Given the description of an element on the screen output the (x, y) to click on. 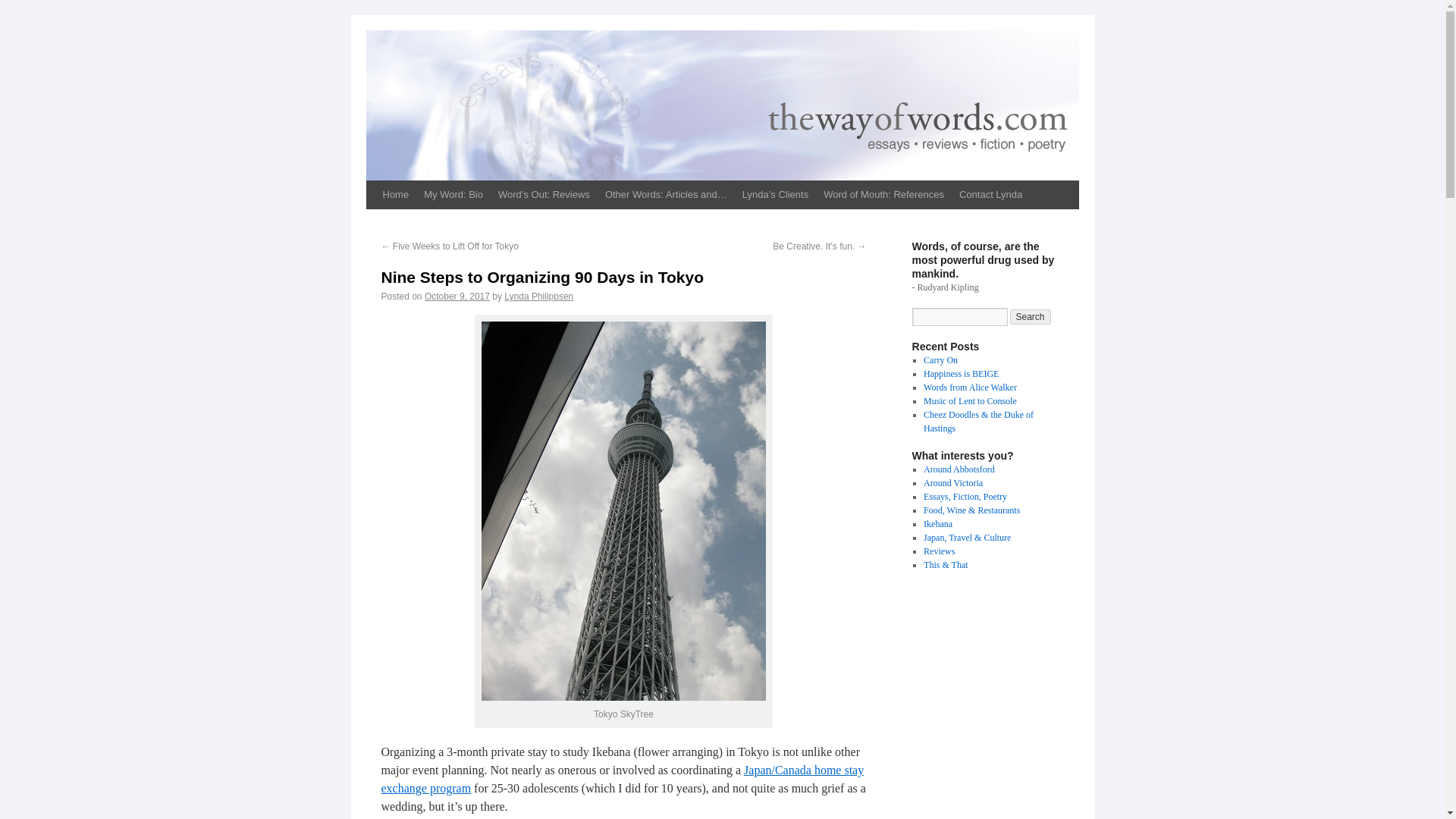
Search (1030, 316)
Music of Lent to Console (969, 400)
Carry On (940, 359)
Lynda Philippsen (538, 296)
Words from Alice Walker (969, 387)
Word of Mouth: References (883, 194)
Contact Lynda (990, 194)
View all posts by Lynda Philippsen (538, 296)
Around Abbotsford (958, 469)
Happiness is BEIGE (960, 373)
Around Victoria (952, 482)
Search (1030, 316)
My Word: Bio (453, 194)
12:01 AM (457, 296)
Home (395, 194)
